Given the description of an element on the screen output the (x, y) to click on. 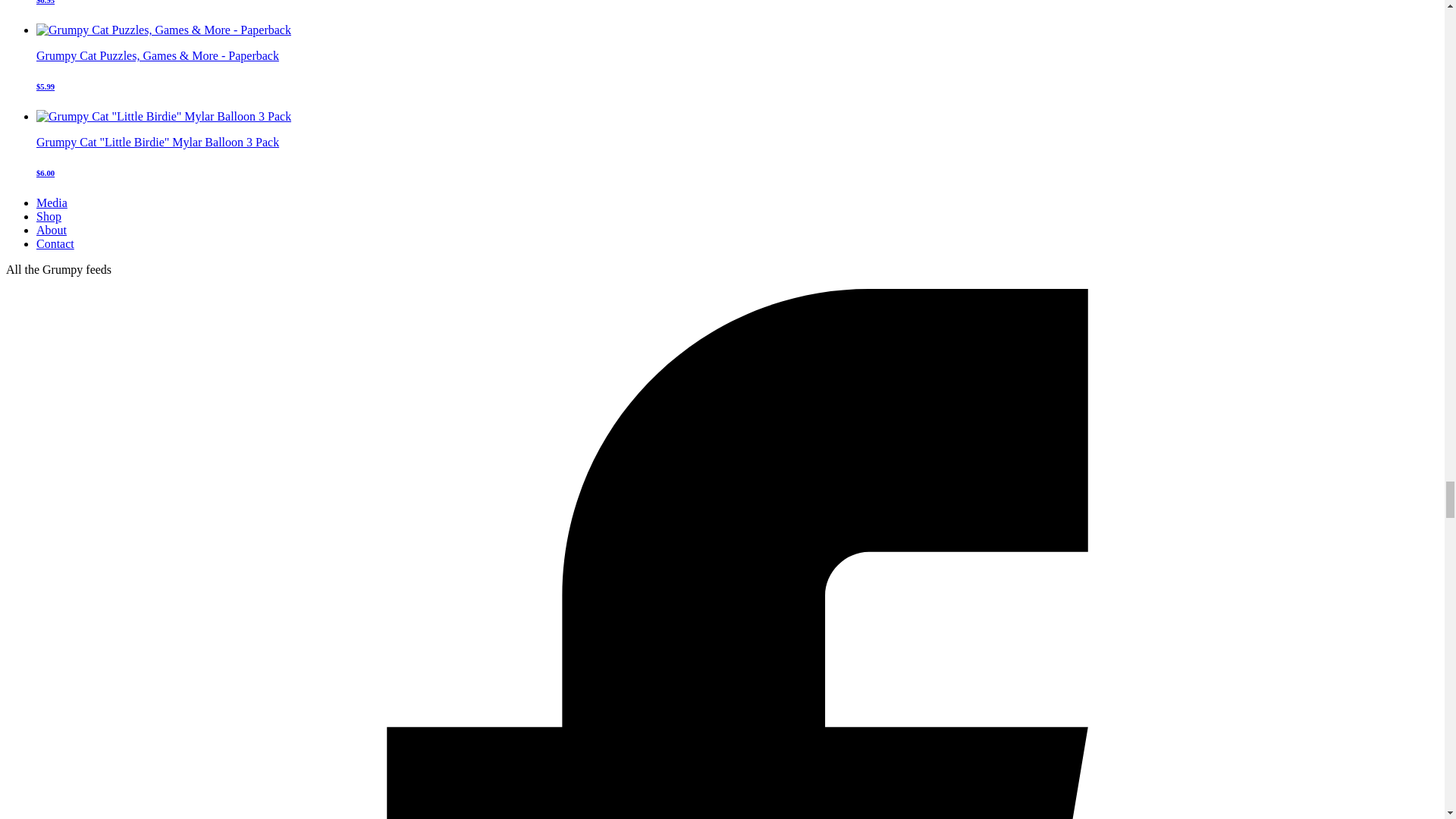
Shop (48, 215)
About (51, 229)
Contact (55, 243)
Media (51, 202)
